Given the description of an element on the screen output the (x, y) to click on. 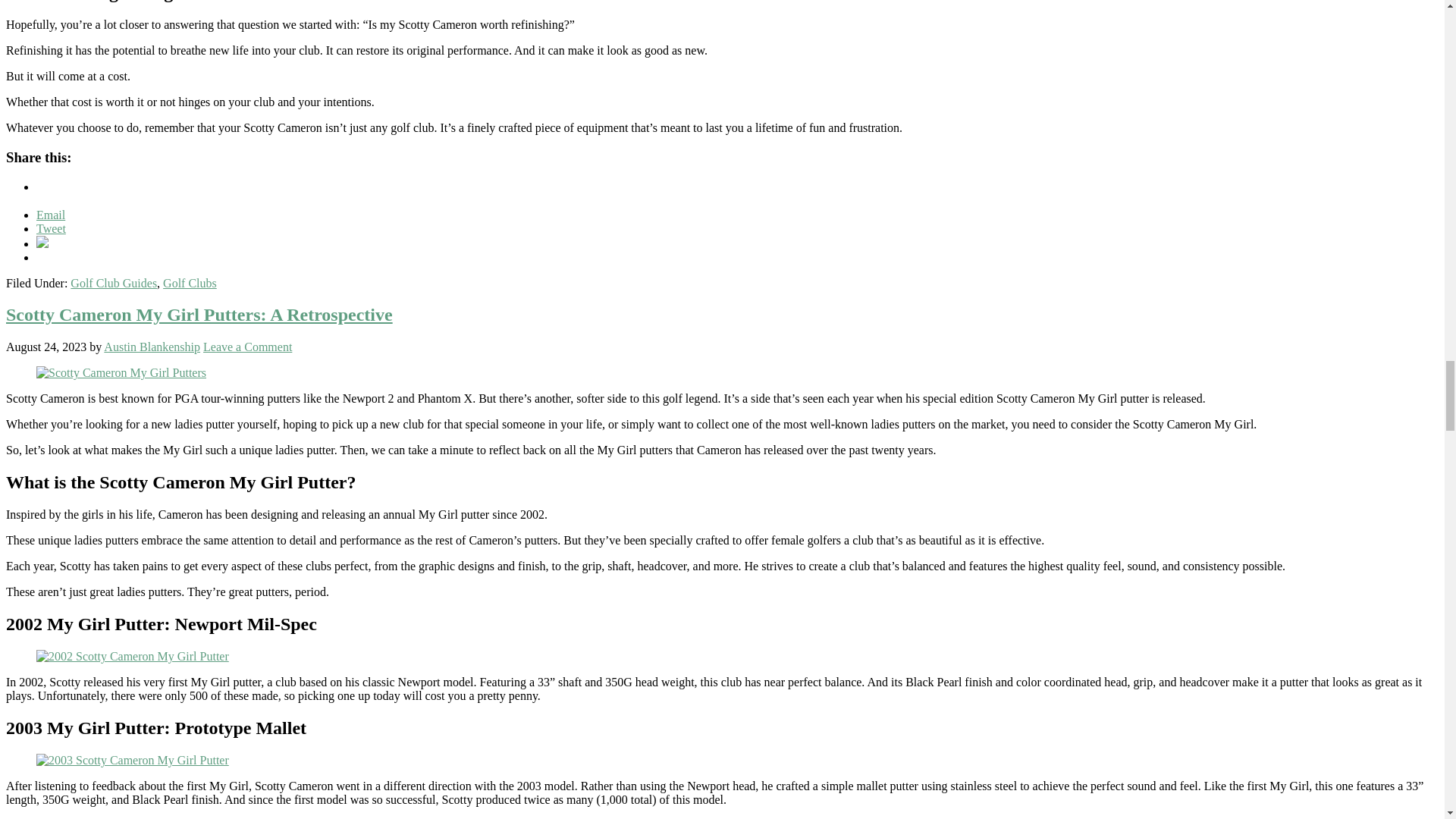
Click to email this to a friend (50, 214)
